Given the description of an element on the screen output the (x, y) to click on. 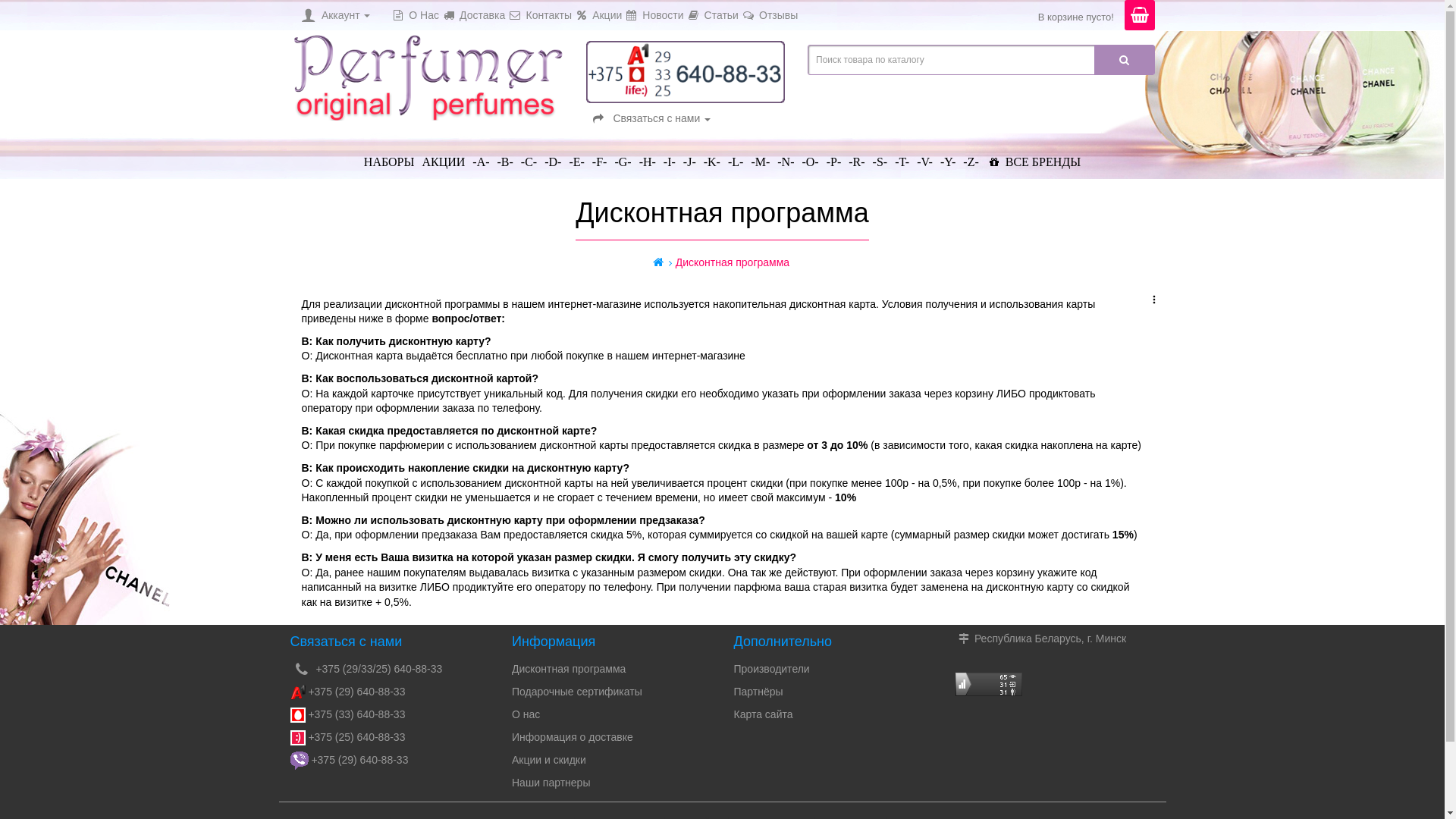
-O- Element type: text (809, 155)
-R- Element type: text (856, 155)
-C- Element type: text (528, 155)
-H- Element type: text (647, 155)
-Z- Element type: text (970, 155)
-A- Element type: text (480, 155)
-S- Element type: text (880, 155)
-N- Element type: text (785, 155)
-J- Element type: text (689, 155)
-F- Element type: text (599, 155)
-E- Element type: text (576, 155)
-D- Element type: text (552, 155)
-L- Element type: text (735, 155)
-P- Element type: text (834, 155)
-K- Element type: text (711, 155)
-T- Element type: text (901, 155)
-I- Element type: text (669, 155)
-G- Element type: text (622, 155)
-V- Element type: text (924, 155)
-B- Element type: text (505, 155)
-M- Element type: text (759, 155)
-Y- Element type: text (947, 155)
